Given the description of an element on the screen output the (x, y) to click on. 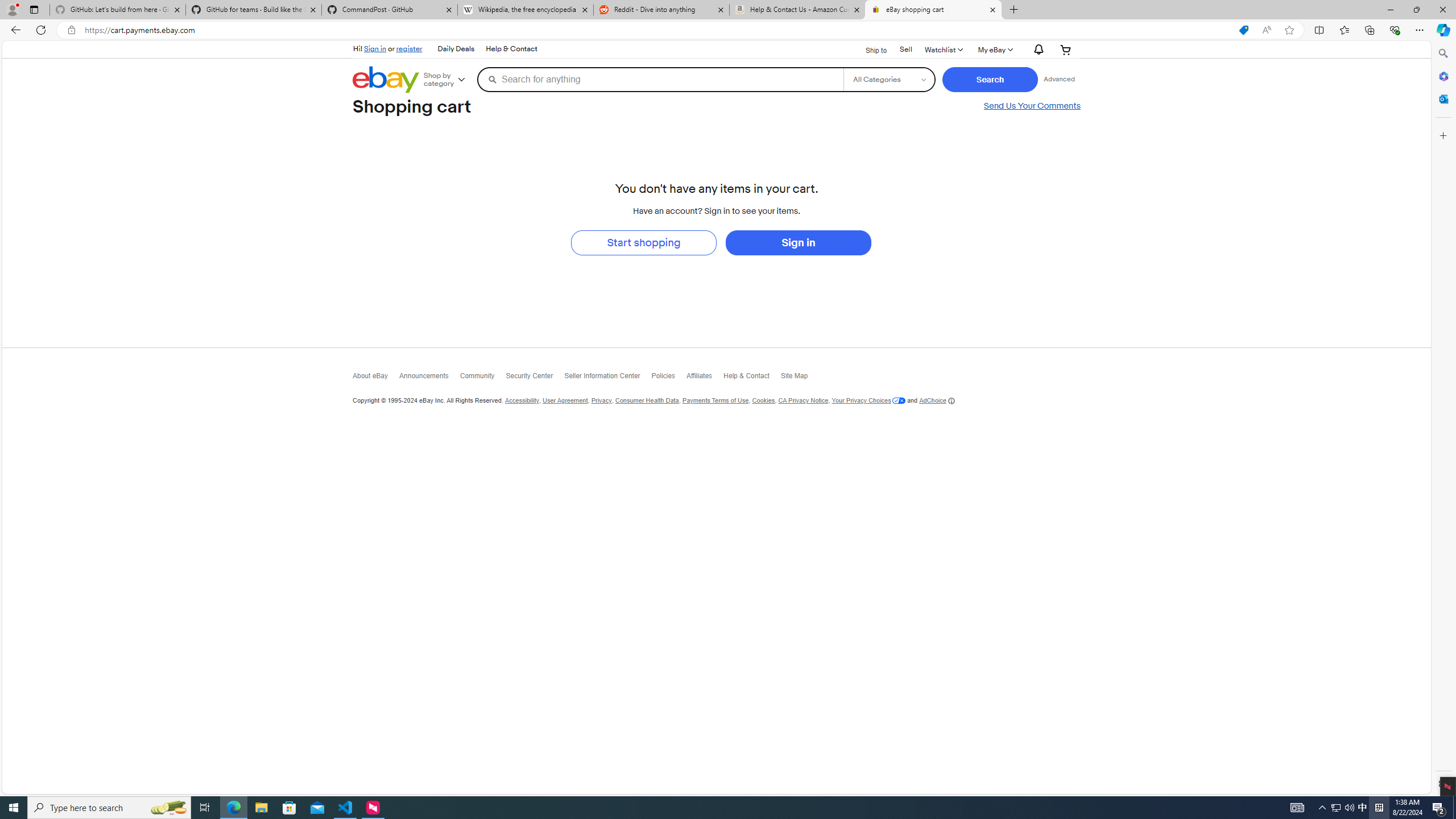
Security Center (534, 377)
Shop by category (448, 79)
AutomationID: gh-minicart-hover (1065, 49)
Reddit - Dive into anything (660, 9)
Notifications (1036, 49)
Security Center (534, 378)
Watchlist (942, 49)
Help & Contact (751, 377)
Policies (667, 378)
